Given the description of an element on the screen output the (x, y) to click on. 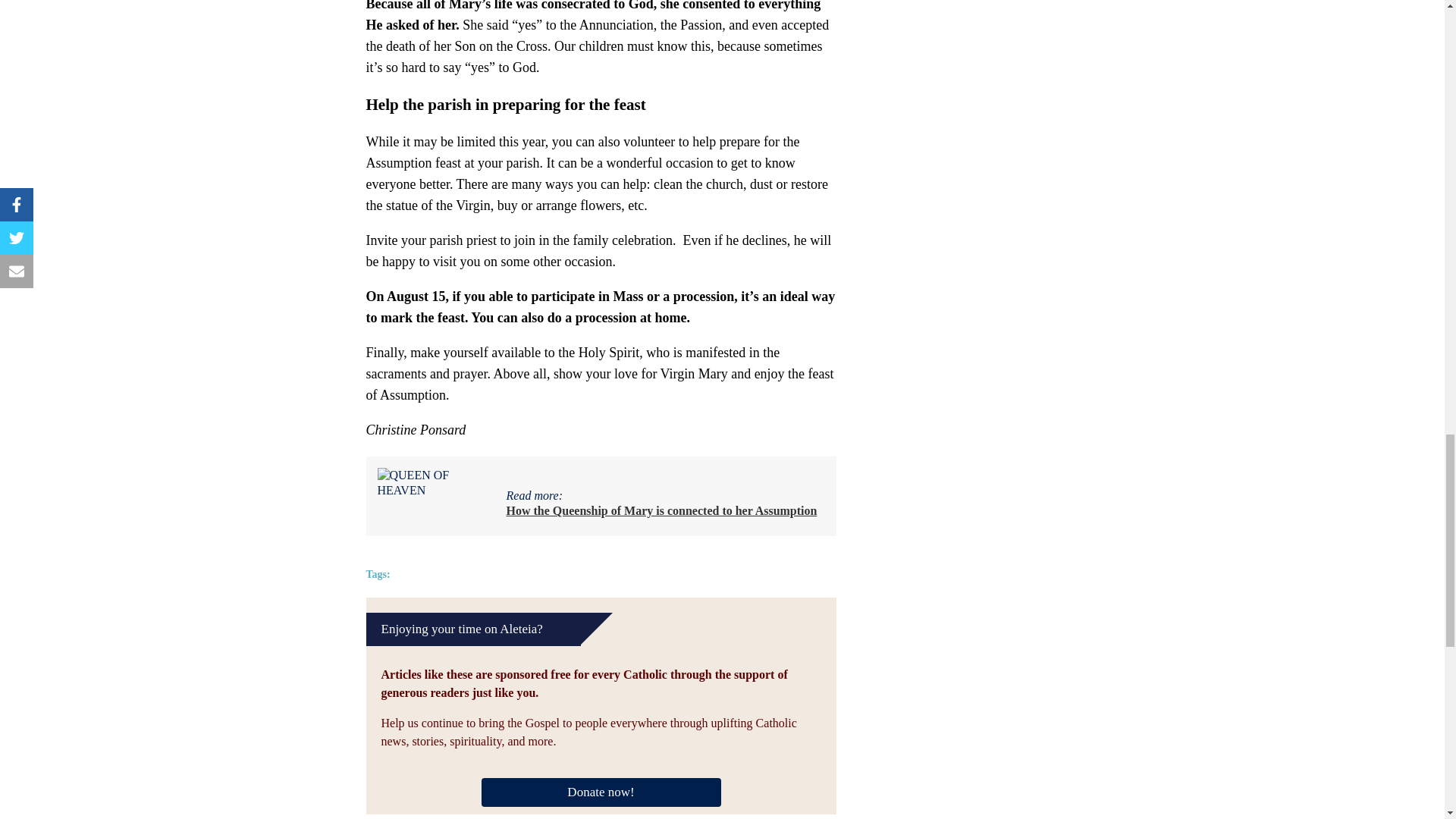
How the Queenship of Mary is connected to her Assumption (661, 510)
